Given the description of an element on the screen output the (x, y) to click on. 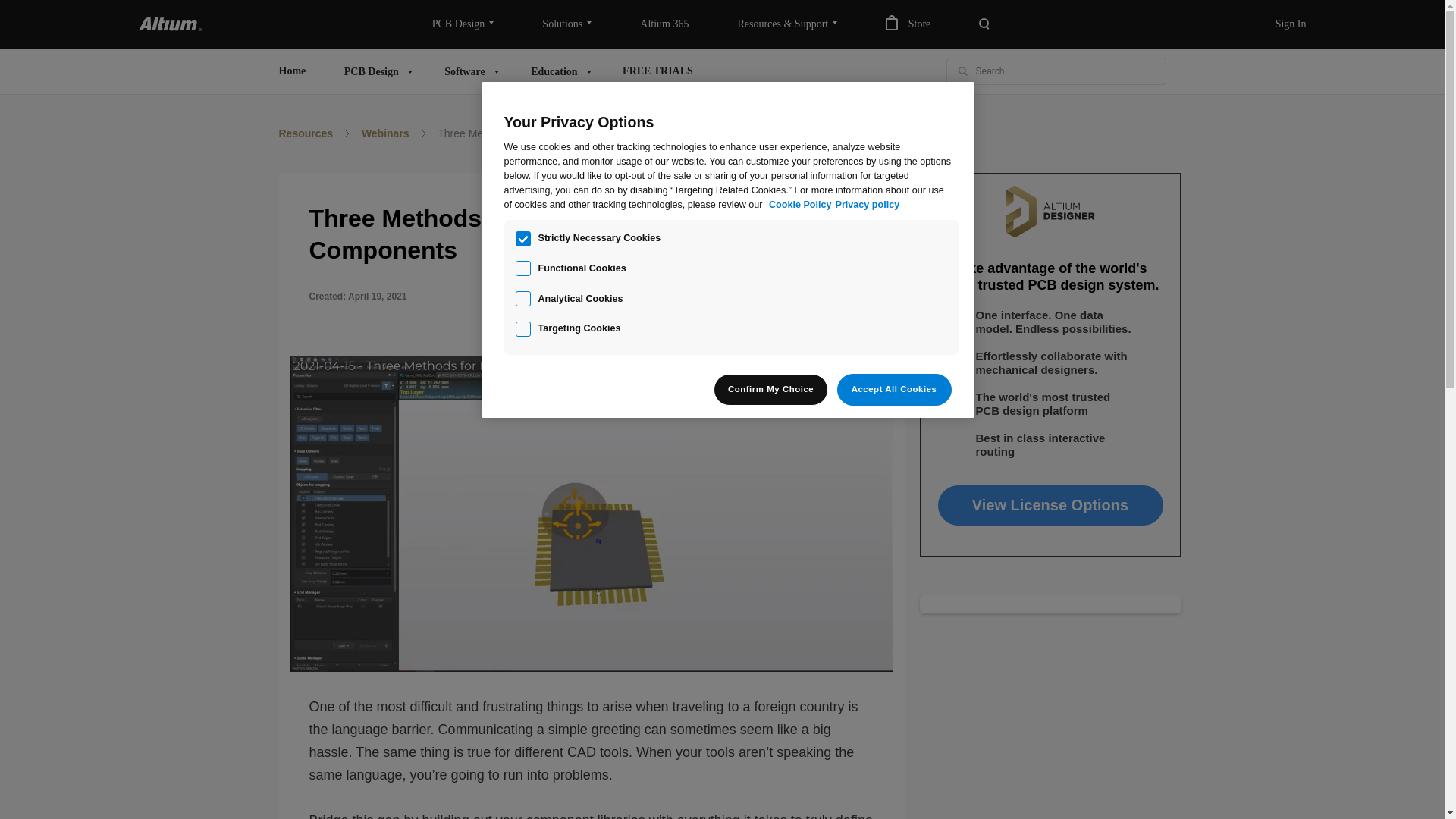
Home (291, 71)
Search Open (984, 24)
Search (963, 70)
Altium 365 (664, 24)
Sign In (1290, 23)
Solutions (566, 24)
Software by Altium (467, 70)
PCB Design (374, 70)
PCB Design (462, 24)
Explore Free Trials of PCB Design Software (657, 71)
Store (908, 24)
